Given the description of an element on the screen output the (x, y) to click on. 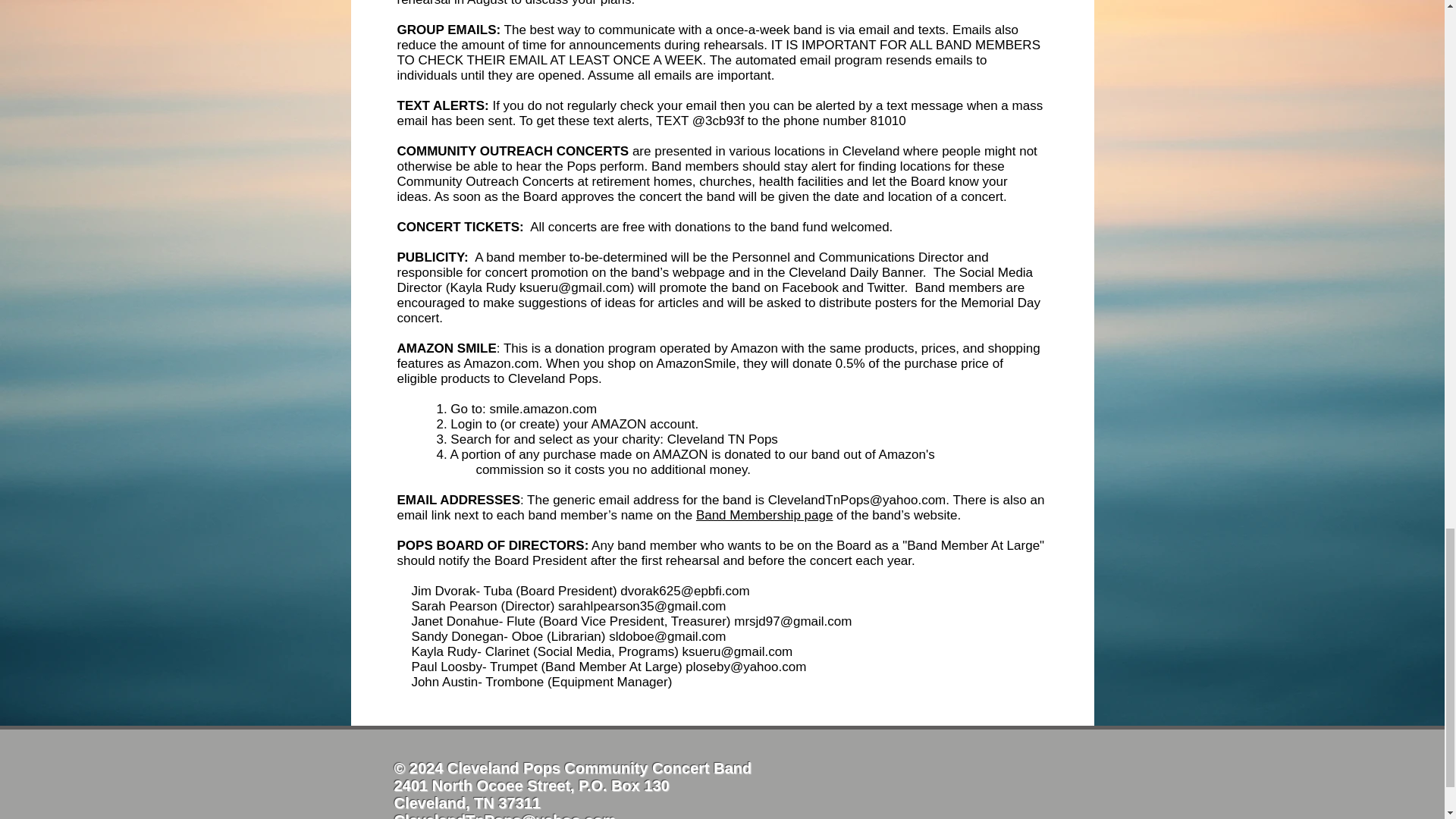
Band Membership page (763, 514)
